Given the description of an element on the screen output the (x, y) to click on. 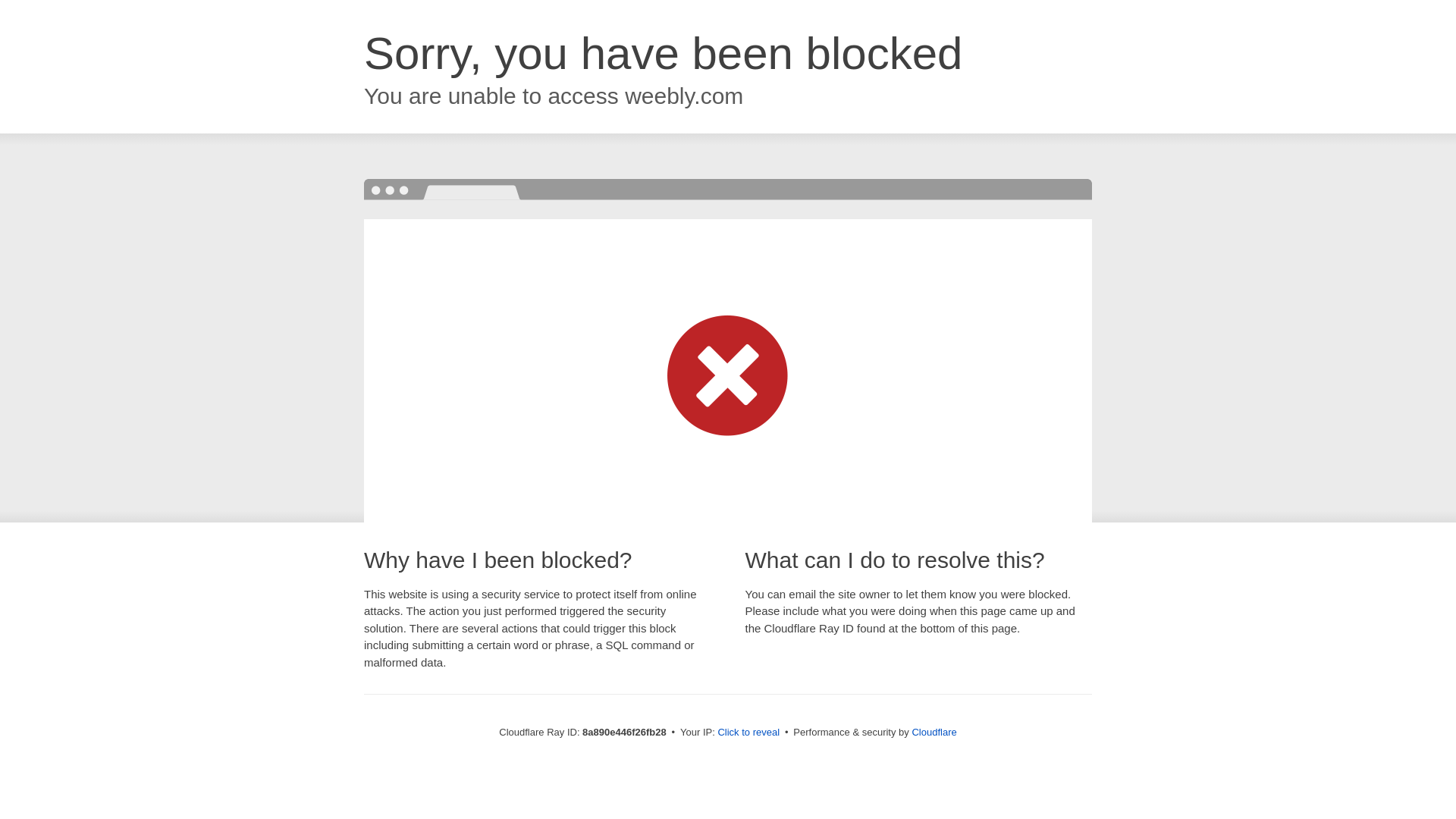
Cloudflare (933, 731)
Click to reveal (747, 732)
